Given the description of an element on the screen output the (x, y) to click on. 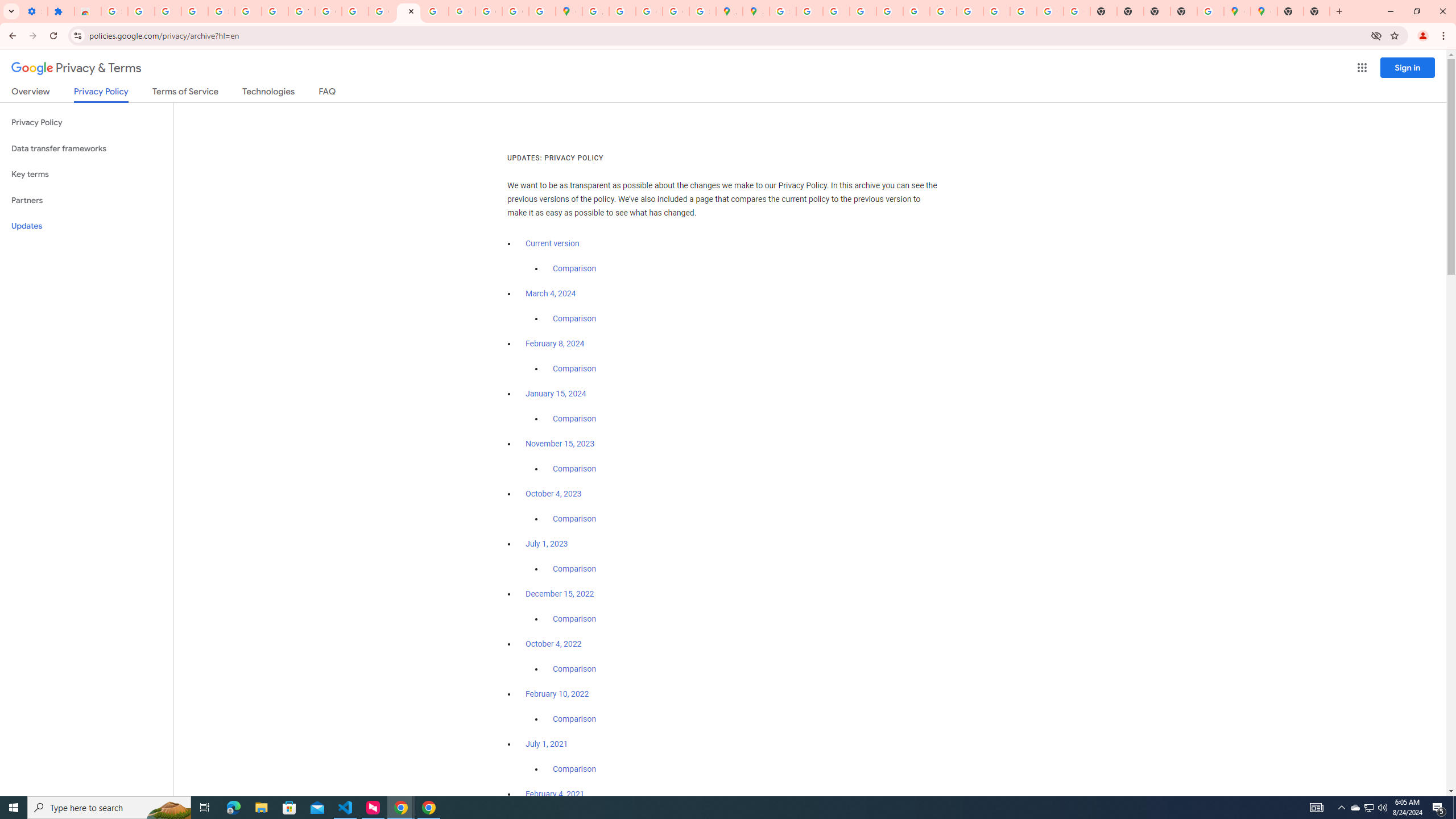
March 4, 2024 (550, 293)
July 1, 2021 (546, 743)
https://scholar.google.com/ (355, 11)
Comparison (574, 768)
Google Maps (1236, 11)
January 15, 2024 (555, 394)
Privacy Help Center - Policies Help (836, 11)
